Given the description of an element on the screen output the (x, y) to click on. 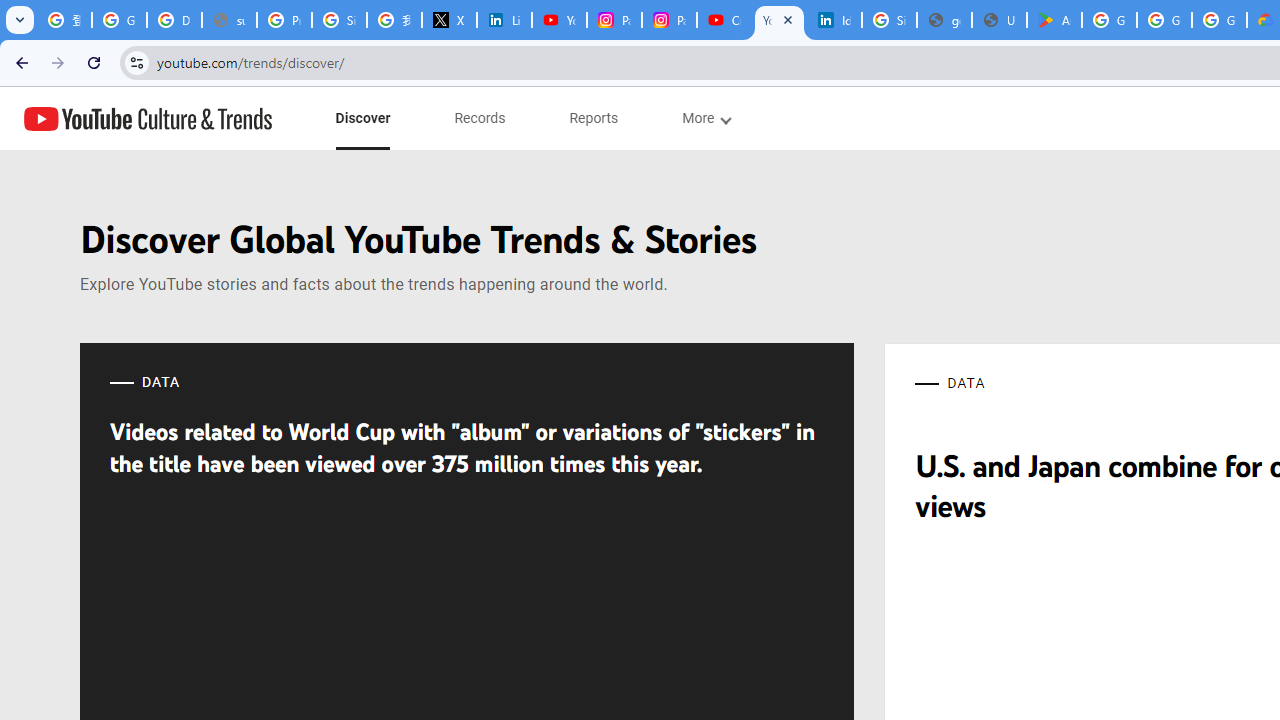
User Details (998, 20)
YouTube Culture & Trends (147, 118)
X (449, 20)
subnav-More menupopup (706, 118)
LinkedIn Privacy Policy (504, 20)
